Given the description of an element on the screen output the (x, y) to click on. 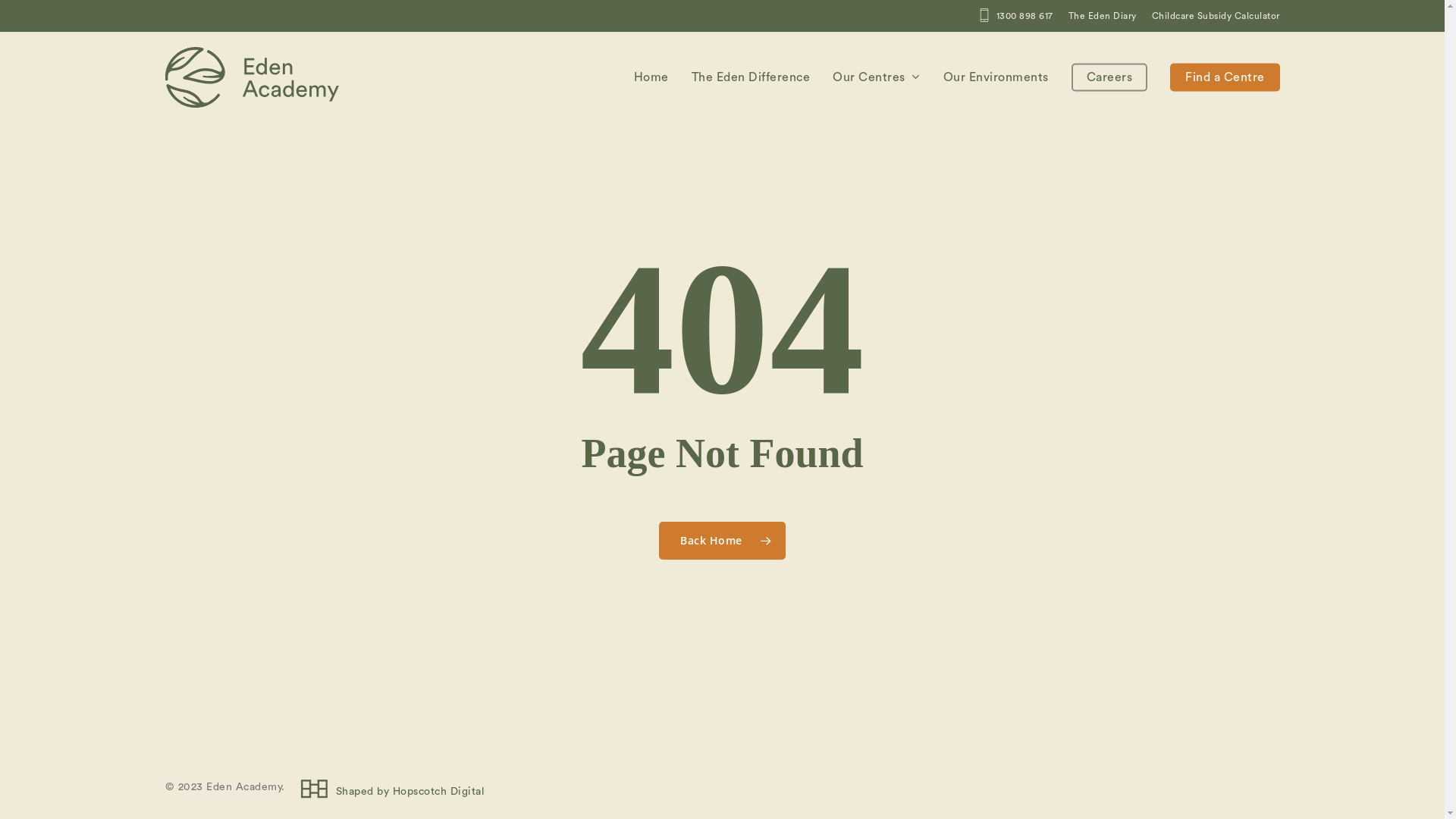
Our Centres Element type: text (876, 77)
Home Element type: text (650, 77)
Careers Element type: text (1108, 77)
The Eden Diary Element type: text (1101, 15)
Back Home Element type: text (721, 540)
Our Environments Element type: text (995, 77)
Find a Centre Element type: text (1225, 77)
1300 898 617 Element type: text (1014, 15)
Shaped by Hopscotch Digital Element type: text (385, 790)
Childcare Subsidy Calculator Element type: text (1215, 15)
The Eden Difference Element type: text (750, 77)
